Given the description of an element on the screen output the (x, y) to click on. 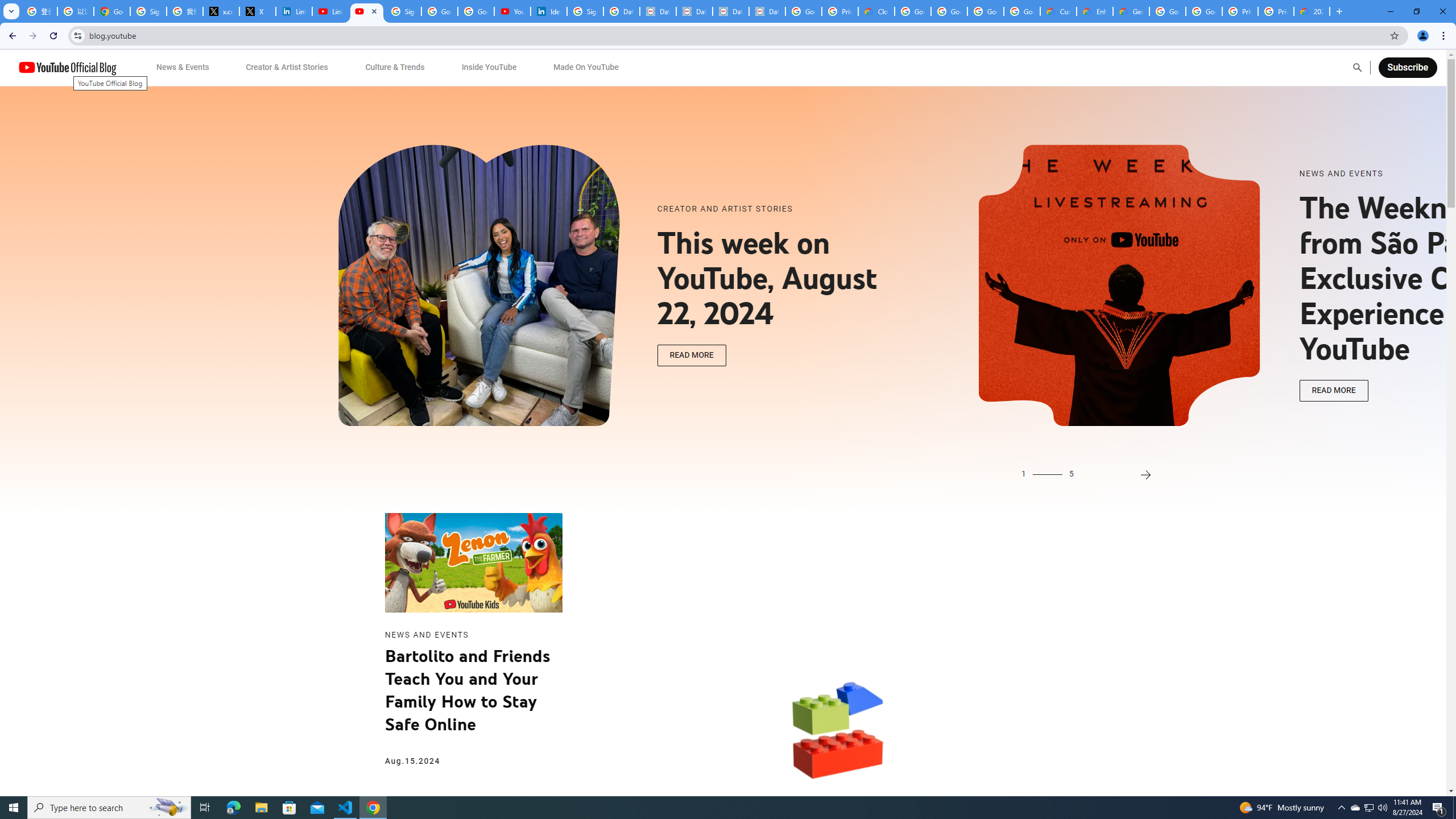
X (257, 11)
Enhanced Support | Google Cloud (1094, 11)
Google Workspace - Specific Terms (985, 11)
News & Events (182, 67)
